Given the description of an element on the screen output the (x, y) to click on. 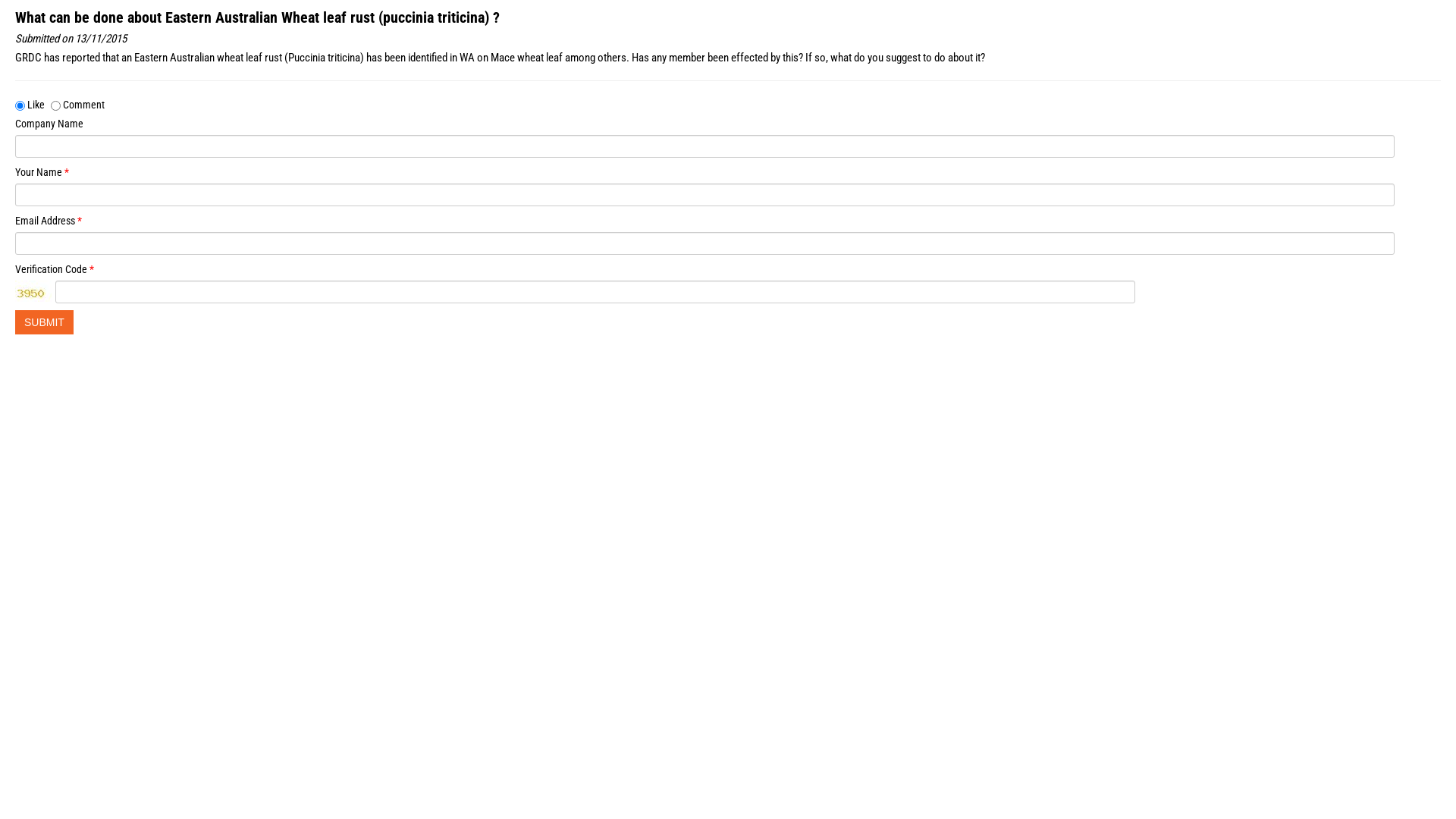
Submit Element type: text (44, 322)
Comment Element type: text (55, 105)
Like Element type: text (20, 105)
verification code Element type: hover (34, 290)
